Given the description of an element on the screen output the (x, y) to click on. 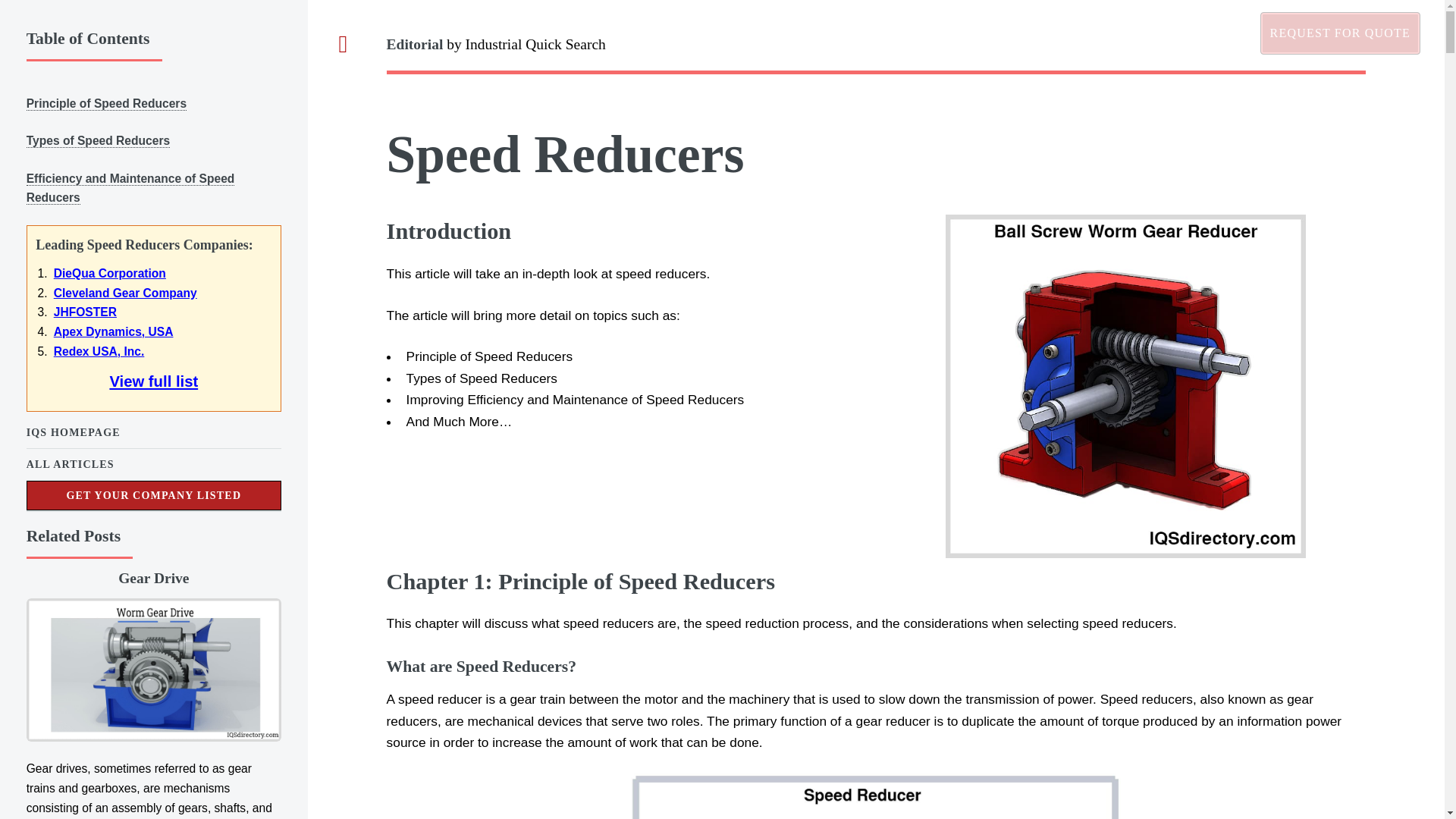
Ball Screw Worm Gear Reducer (1125, 385)
REQUEST FOR QUOTE (1340, 33)
Cleveland Gear Company (124, 292)
DieQua Corporation (109, 273)
Types of Speed Reducers (98, 141)
Speed Reducer (875, 796)
Efficiency and Maintenance of Speed Reducers (130, 188)
Editorial by Industrial Quick Search (876, 44)
Principle of Speed Reducers (106, 103)
